Given the description of an element on the screen output the (x, y) to click on. 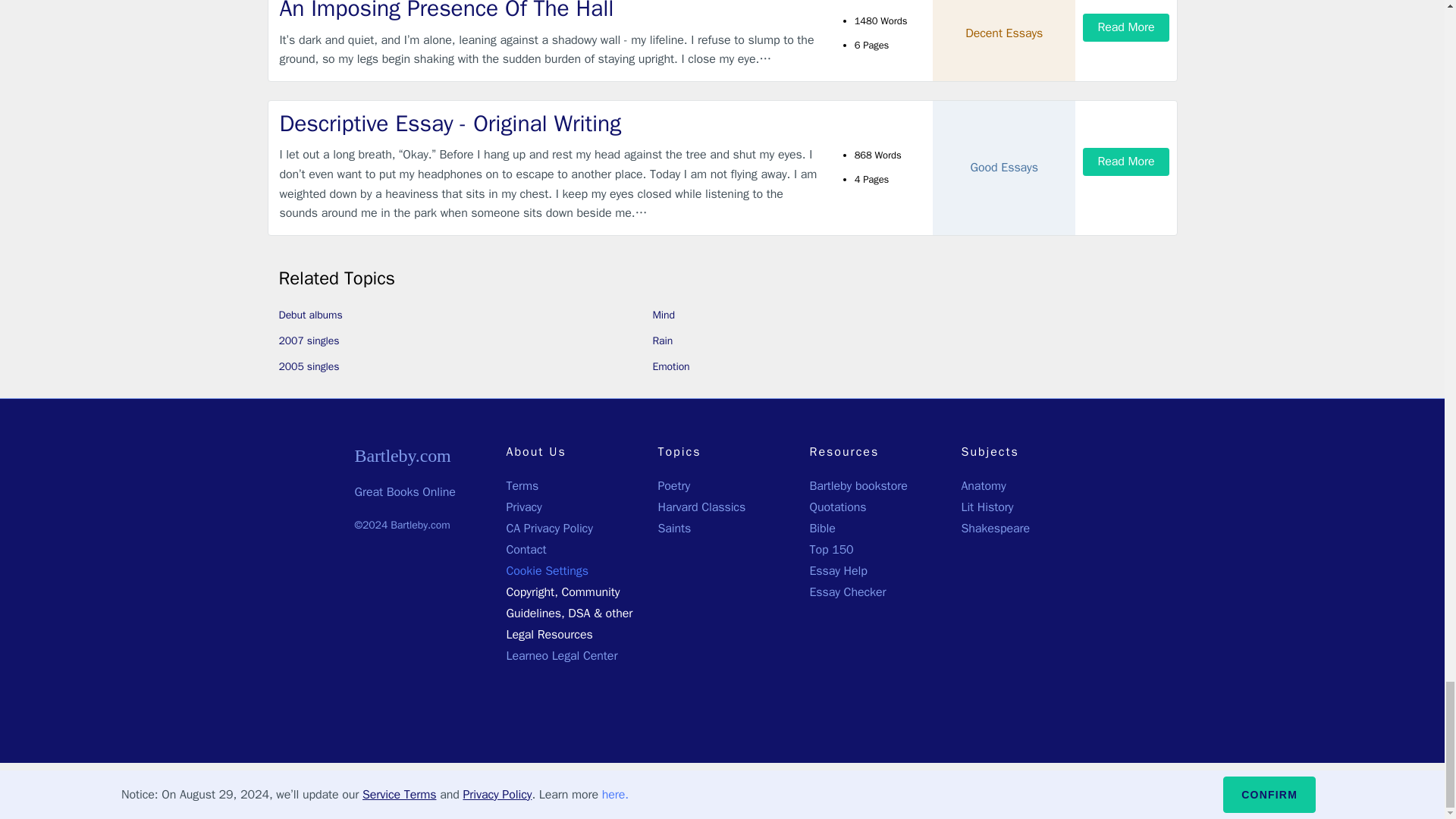
2007 singles (309, 340)
Debut albums (310, 314)
2005 singles (309, 366)
Rain (662, 340)
Mind (663, 314)
Emotion (670, 366)
